Given the description of an element on the screen output the (x, y) to click on. 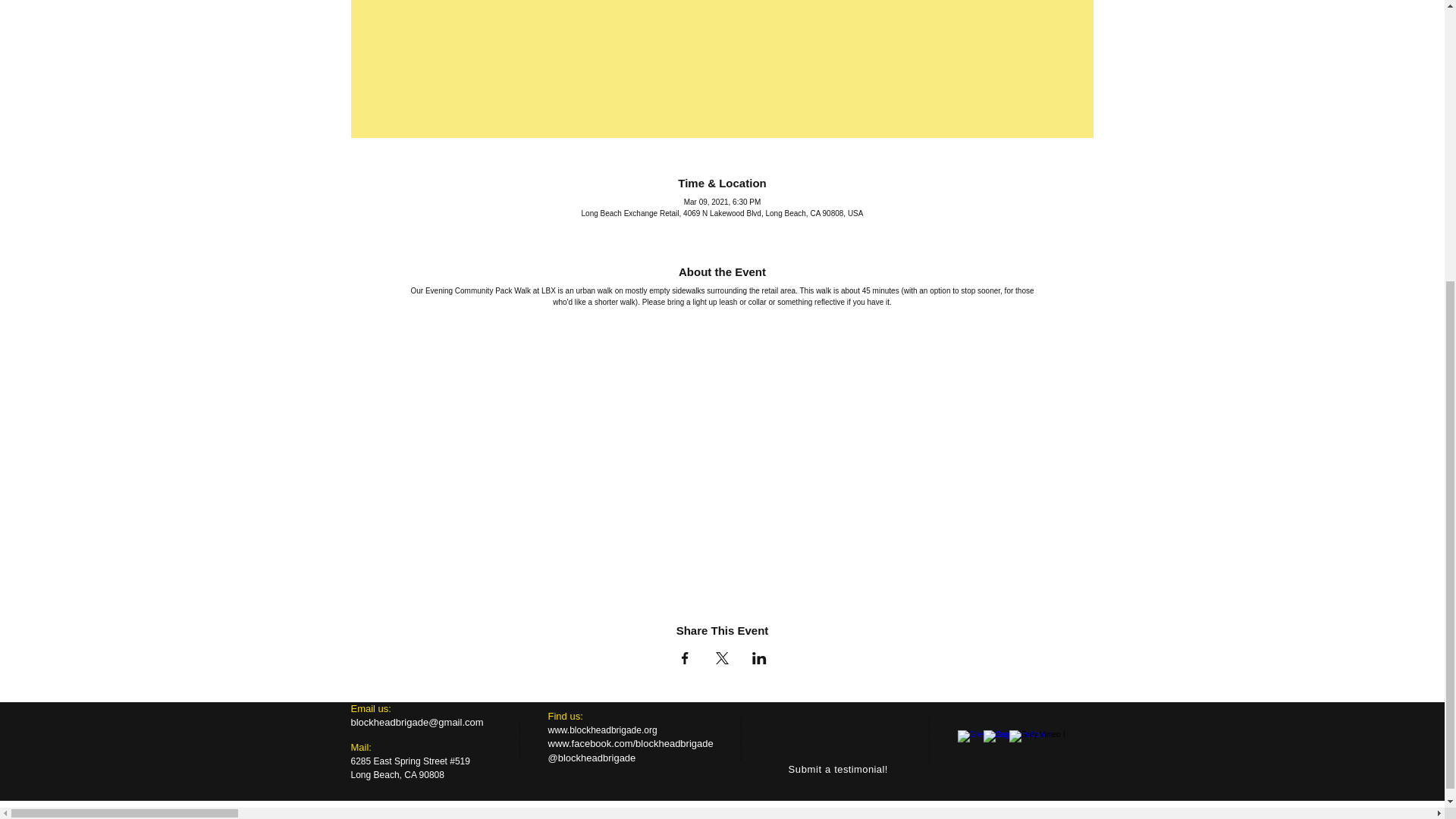
Submit a testimonial! (838, 768)
www.blockheadbrigade.org (601, 729)
